Given the description of an element on the screen output the (x, y) to click on. 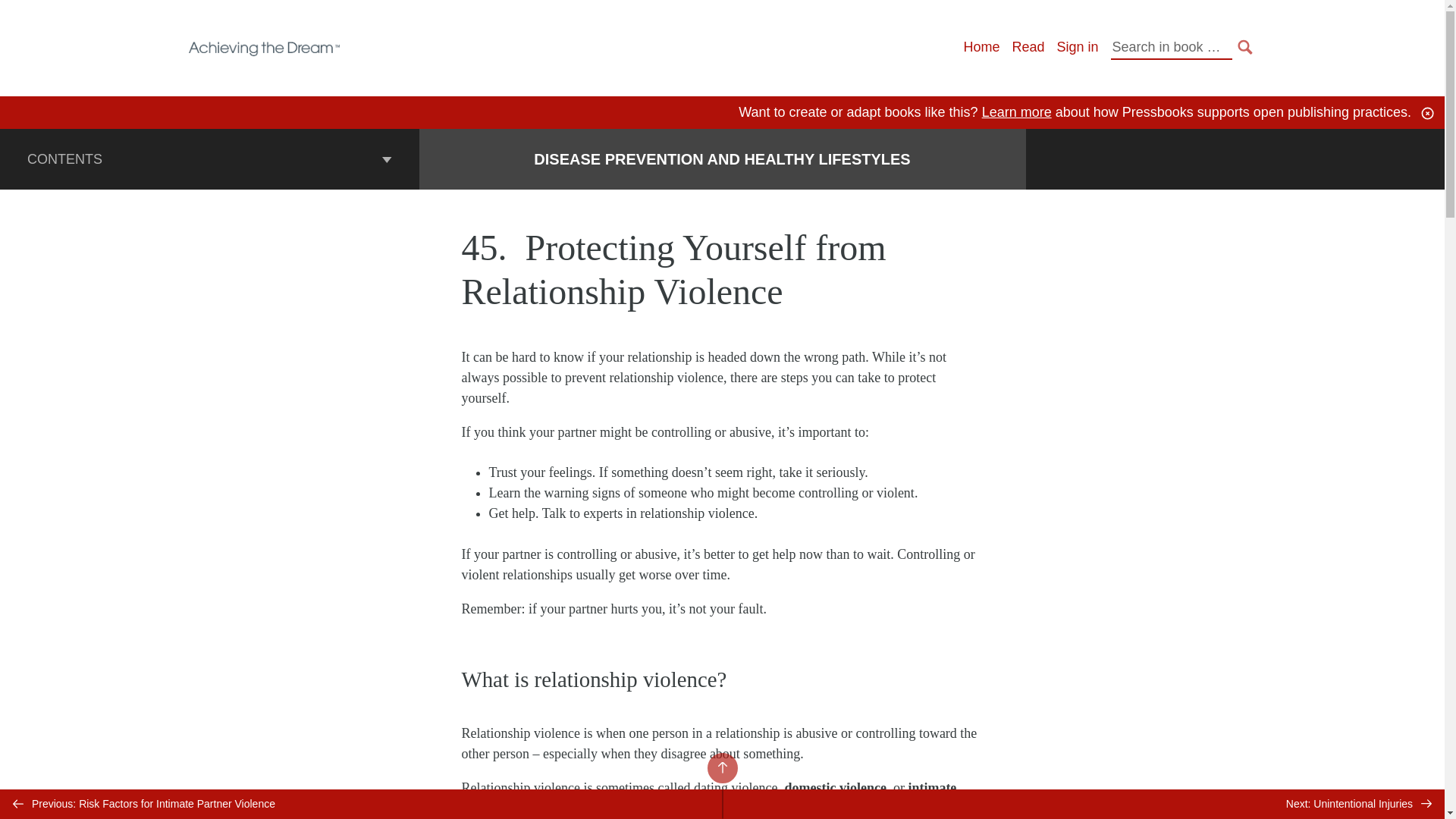
DISEASE PREVENTION AND HEALTHY LIFESTYLES (722, 159)
Previous: Risk Factors for Intimate Partner Violence (361, 804)
Learn more (1016, 111)
Previous: Risk Factors for Intimate Partner Violence (361, 804)
Read (1027, 46)
Sign in (1077, 46)
Home (980, 46)
BACK TO TOP (721, 767)
CONTENTS (209, 158)
